Given the description of an element on the screen output the (x, y) to click on. 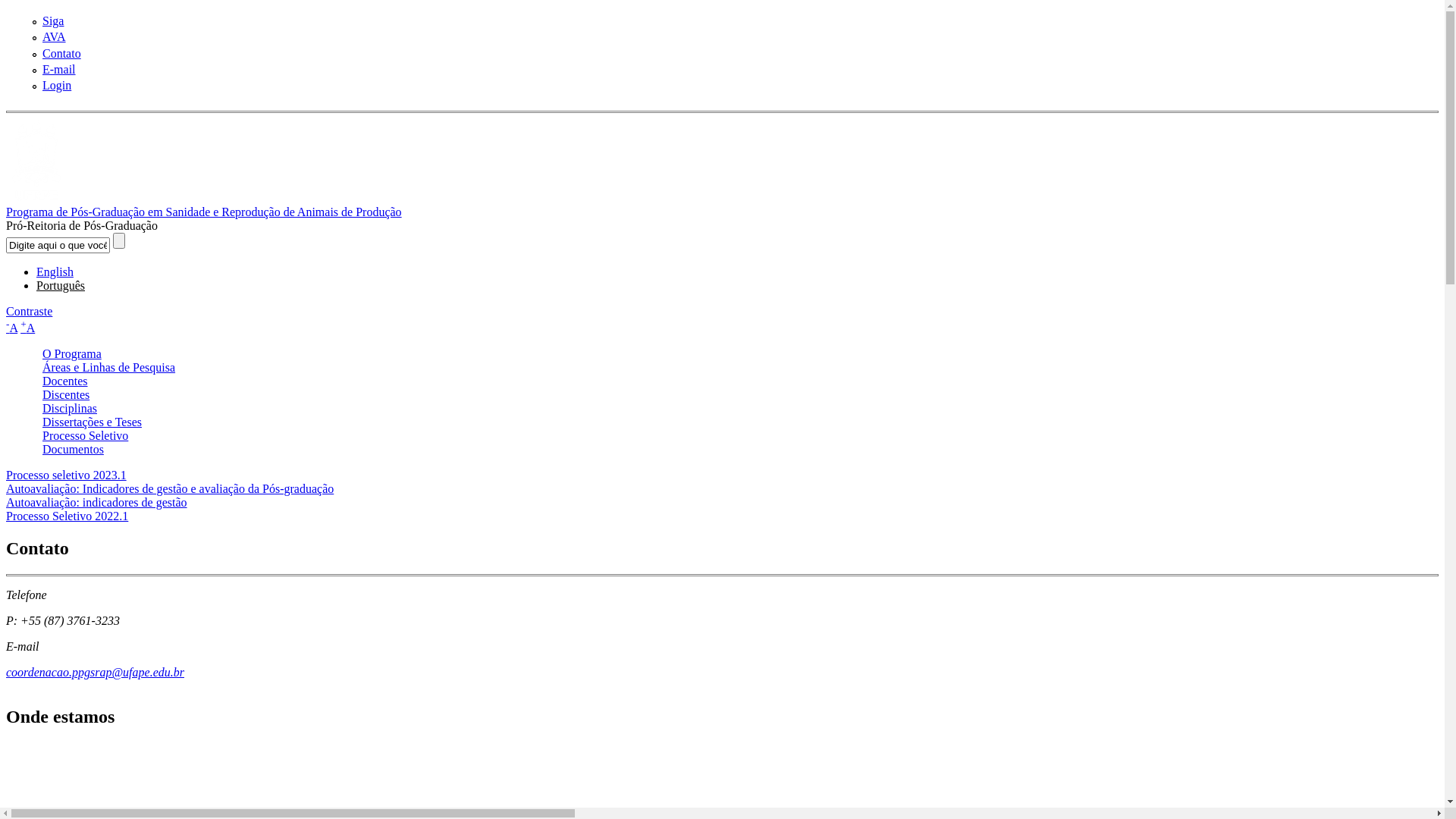
-A Element type: text (11, 327)
+A Element type: text (27, 327)
Disciplinas Element type: text (69, 407)
Contraste Element type: text (29, 310)
AVA Element type: text (53, 36)
Docentes Element type: text (64, 380)
Login Element type: text (56, 84)
E-mail Element type: text (58, 68)
Processo Seletivo 2022.1 Element type: text (67, 515)
Contato Element type: text (61, 53)
Processo seletivo 2023.1 Element type: text (66, 474)
Processo Seletivo Element type: text (85, 435)
Siga Element type: text (52, 20)
coordenacao.ppgsrap@ufape.edu.br Element type: text (95, 671)
English Element type: text (54, 271)
Discentes Element type: text (65, 394)
O Programa Element type: text (71, 353)
UFRPE Element type: hover (36, 197)
Documentos Element type: text (72, 448)
